Given the description of an element on the screen output the (x, y) to click on. 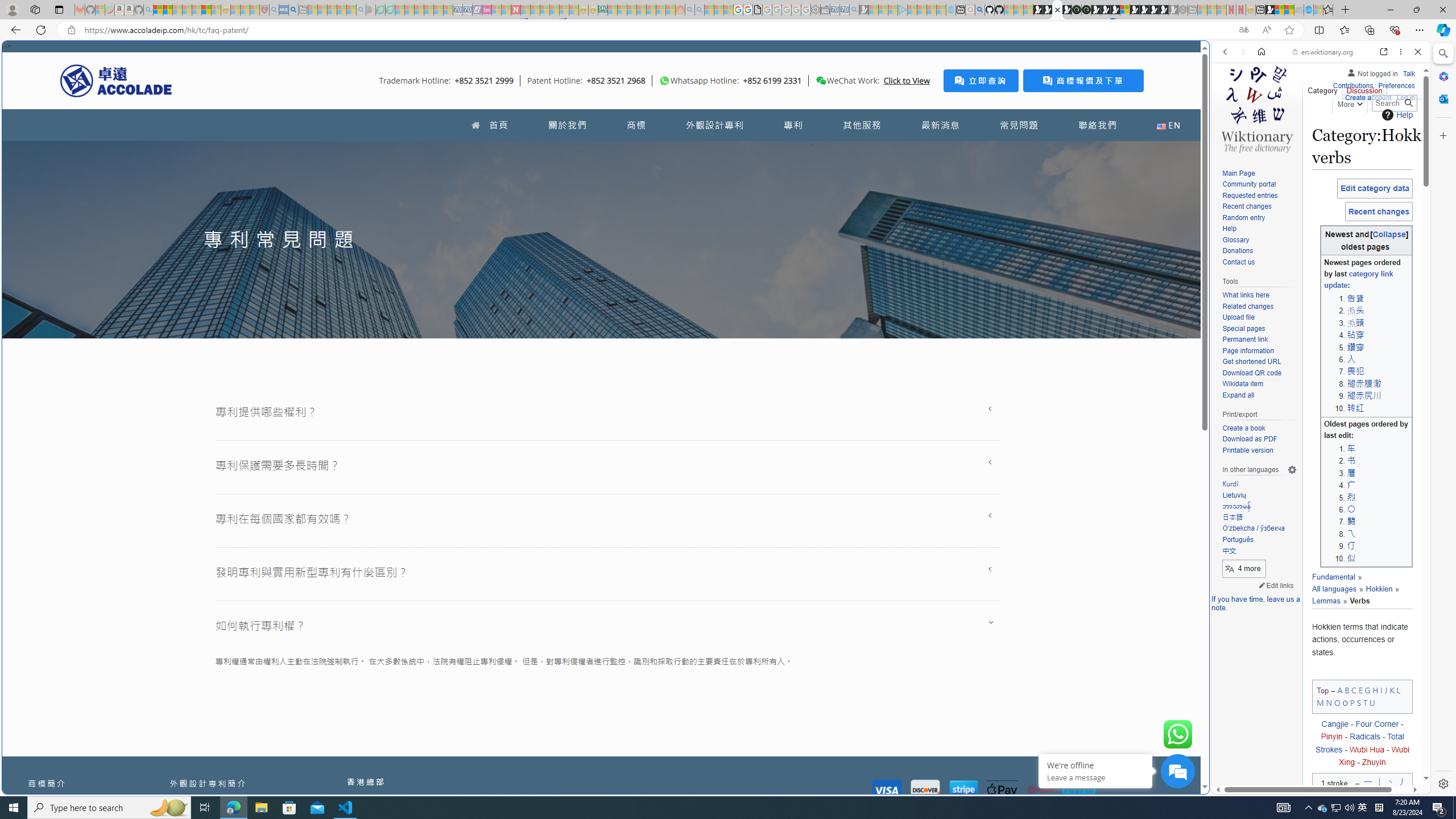
Future Focus Report 2024 (1085, 9)
Create account (1367, 96)
EN (1168, 124)
[Collapse] (1389, 233)
